Given the description of an element on the screen output the (x, y) to click on. 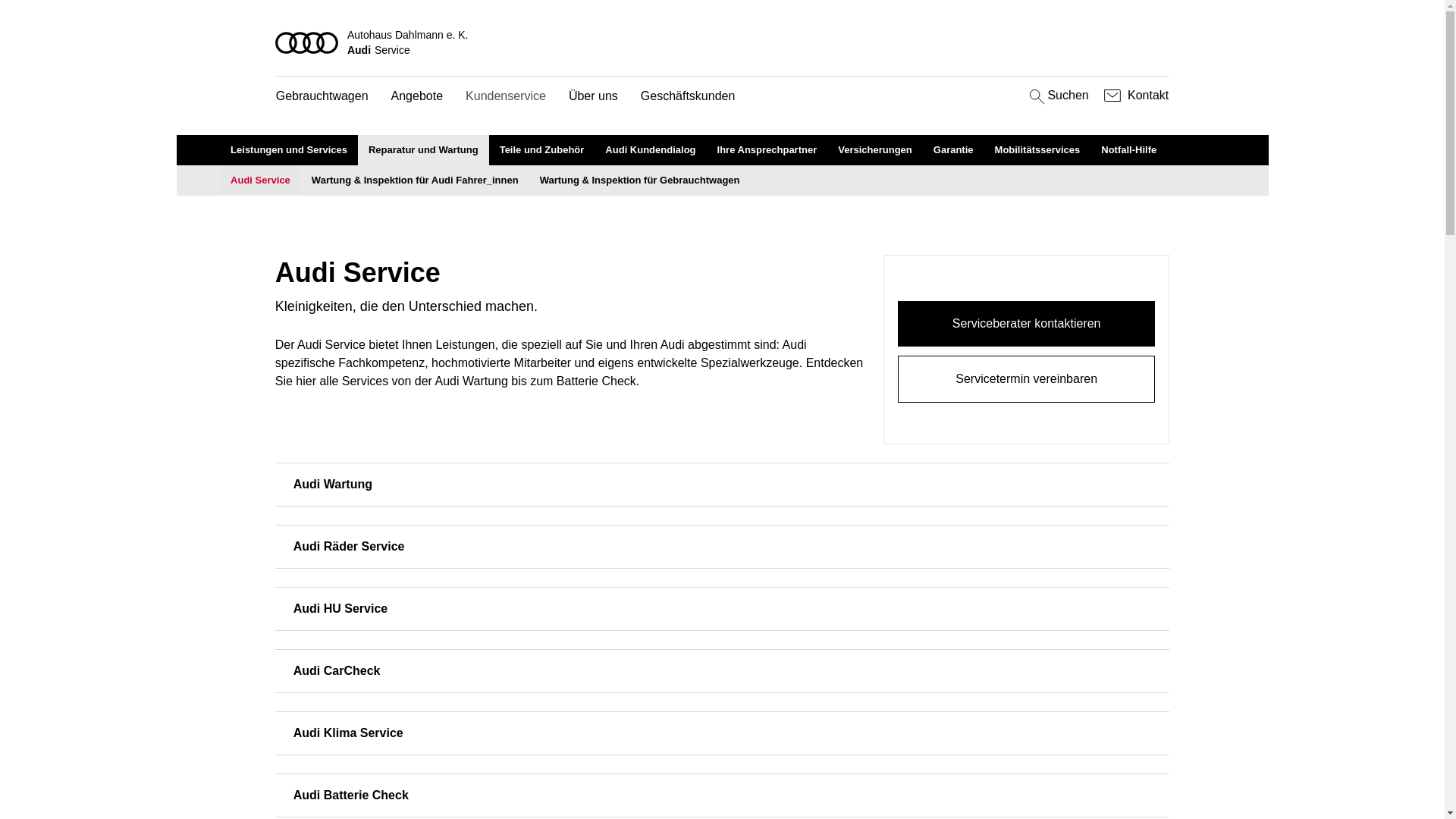
Audi Service Element type: text (260, 180)
Audi Kundendialog Element type: text (650, 149)
Serviceberater kontaktieren Element type: text (1025, 323)
Kundenservice Element type: text (505, 96)
Versicherungen Element type: text (874, 149)
Gebrauchtwagen Element type: text (322, 96)
Notfall-Hilfe Element type: text (1128, 149)
Servicetermin vereinbaren Element type: text (1025, 378)
Kontakt Element type: text (1134, 95)
Leistungen und Services Element type: text (288, 149)
Ihre Ansprechpartner Element type: text (767, 149)
Reparatur und Wartung Element type: text (423, 149)
Angebote Element type: text (417, 96)
Garantie Element type: text (953, 149)
Suchen Element type: text (1056, 95)
Autohaus Dahlmann e. K.
AudiService Element type: text (722, 42)
